Given the description of an element on the screen output the (x, y) to click on. 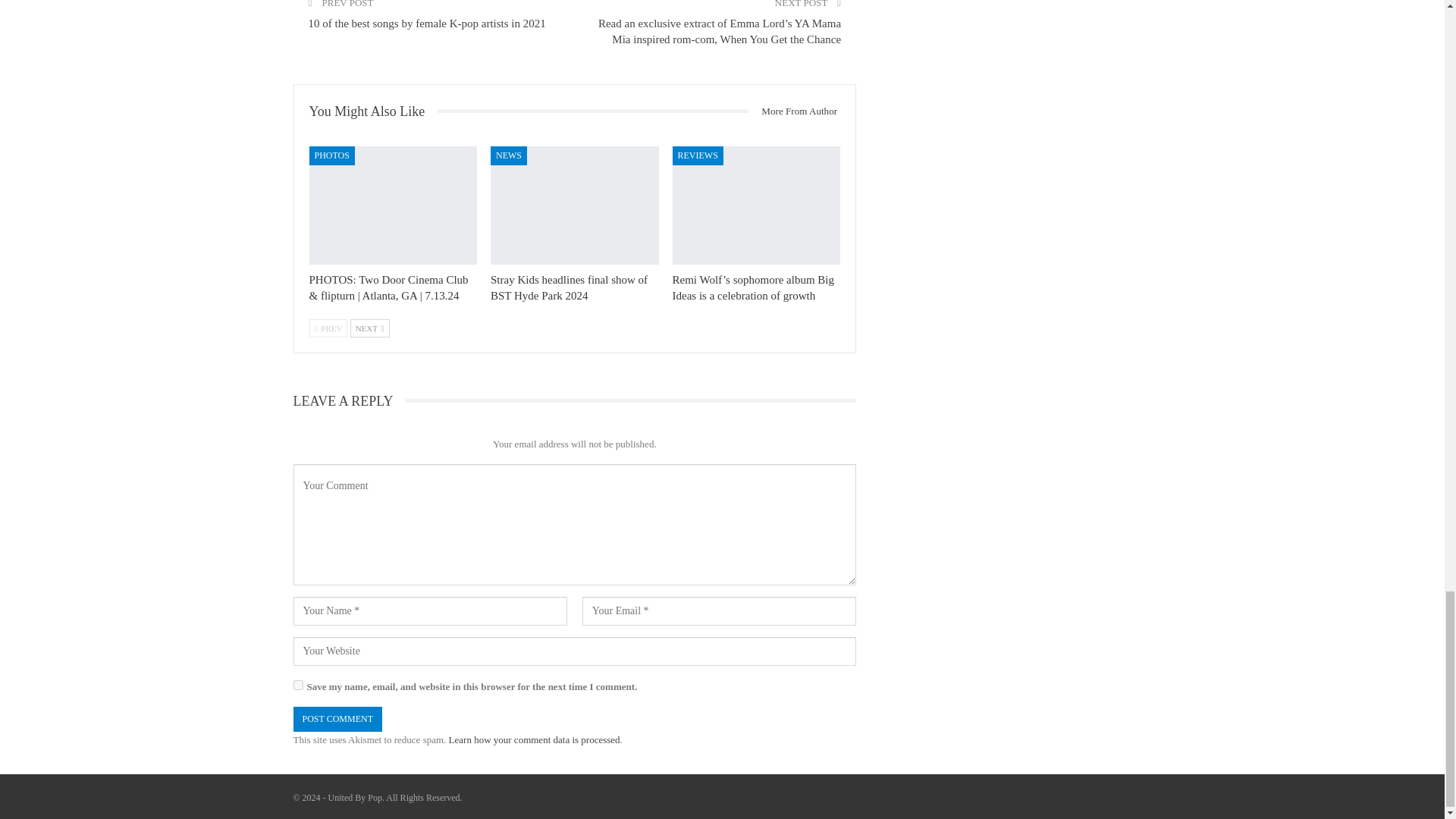
yes (297, 685)
Post Comment (336, 719)
